Given the description of an element on the screen output the (x, y) to click on. 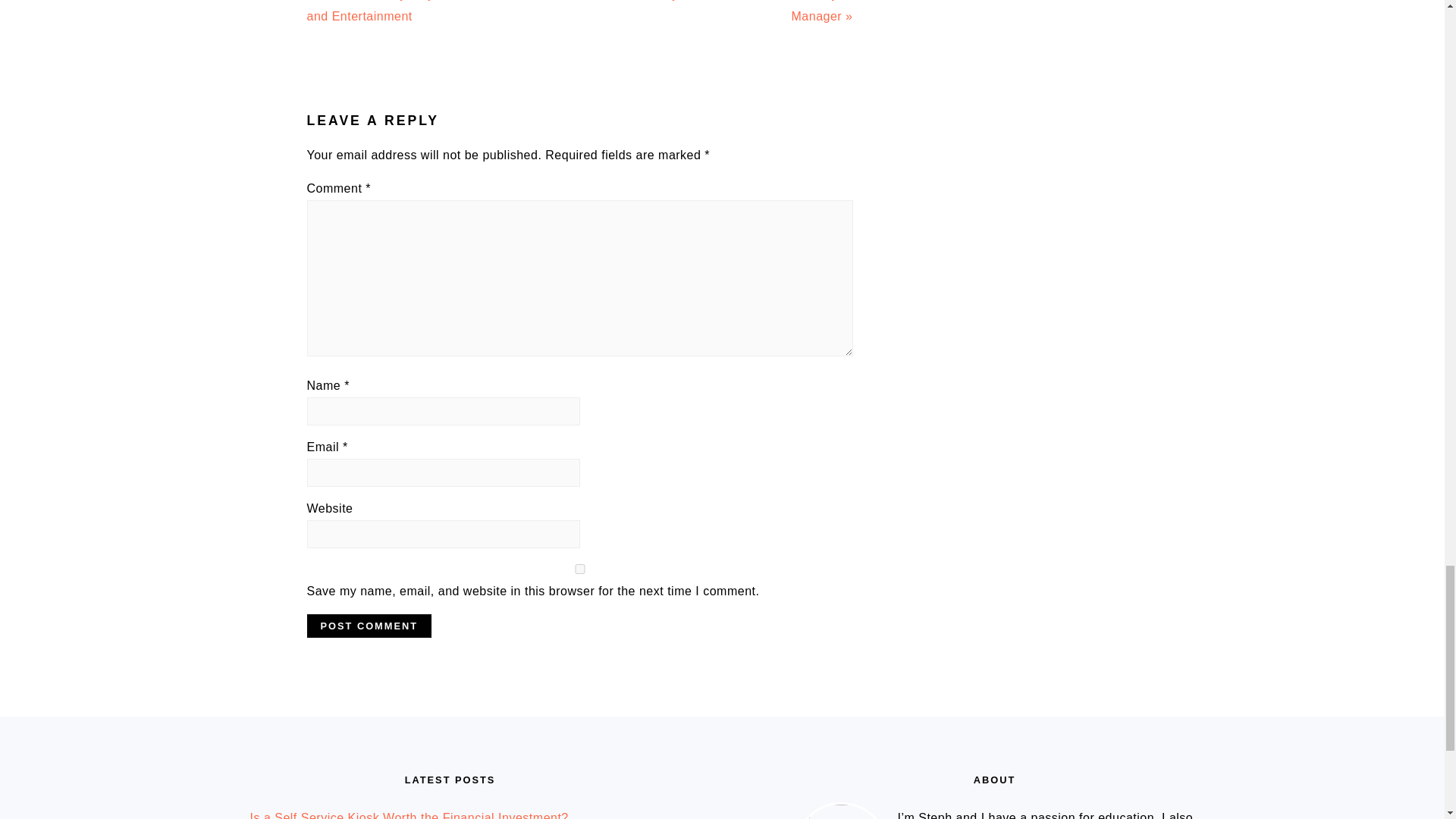
yes (578, 569)
Is a Self Service Kiosk Worth the Financial Investment? (409, 815)
Post Comment (367, 626)
Post Comment (367, 626)
